Given the description of an element on the screen output the (x, y) to click on. 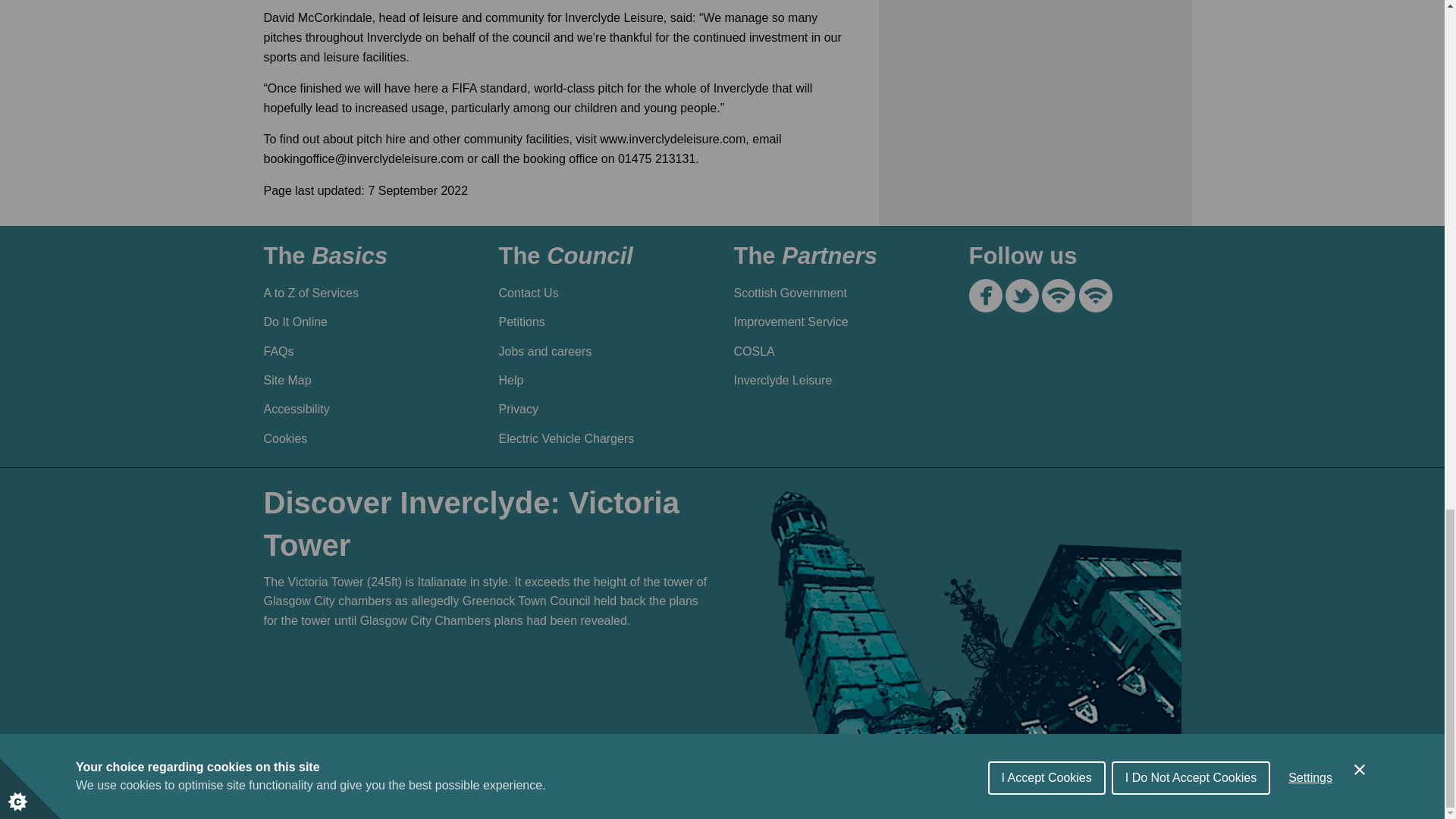
Inverclyde Council News Feed (1058, 295)
Cookies (363, 438)
Accessibility (363, 409)
Inverclyde Council Events Feed (1095, 295)
Site Map (363, 380)
A to Z of Services (363, 293)
FAQs (363, 350)
Do It Online (363, 321)
